Given the description of an element on the screen output the (x, y) to click on. 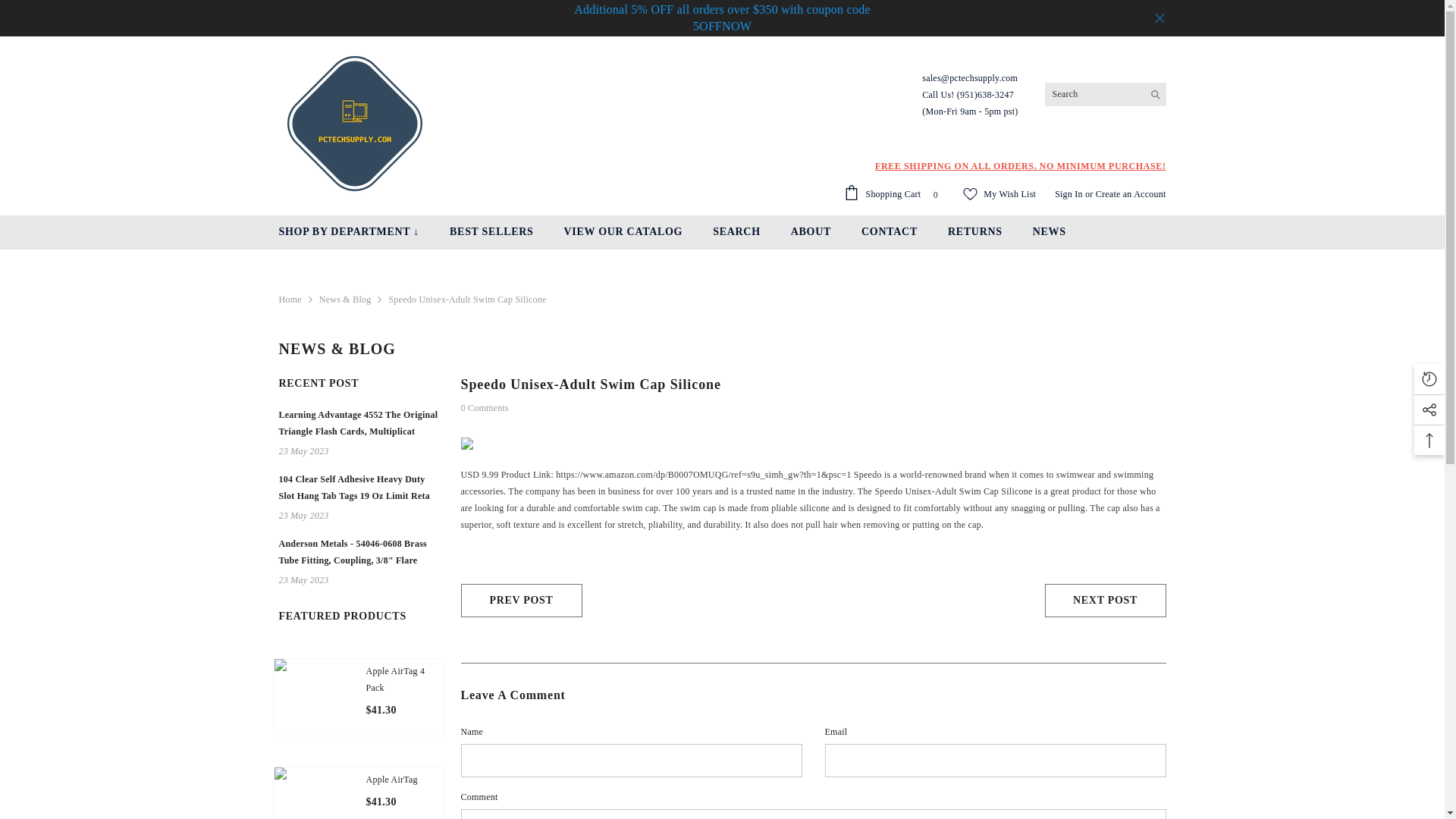
Close (1159, 18)
